Given the description of an element on the screen output the (x, y) to click on. 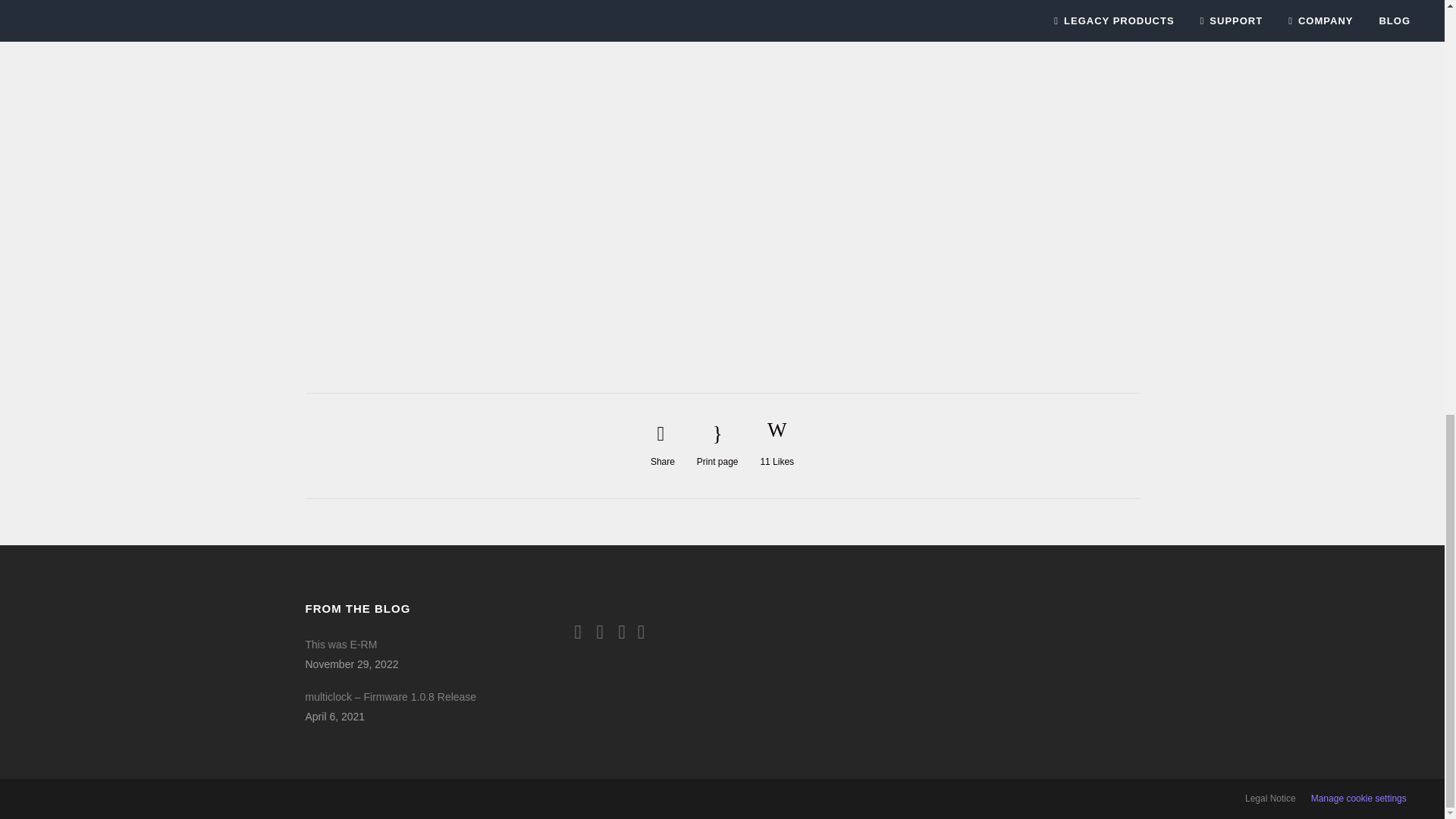
11 Likes (776, 445)
This was E-RM (403, 644)
Print page (717, 445)
Like this (776, 445)
Share (662, 445)
